Given the description of an element on the screen output the (x, y) to click on. 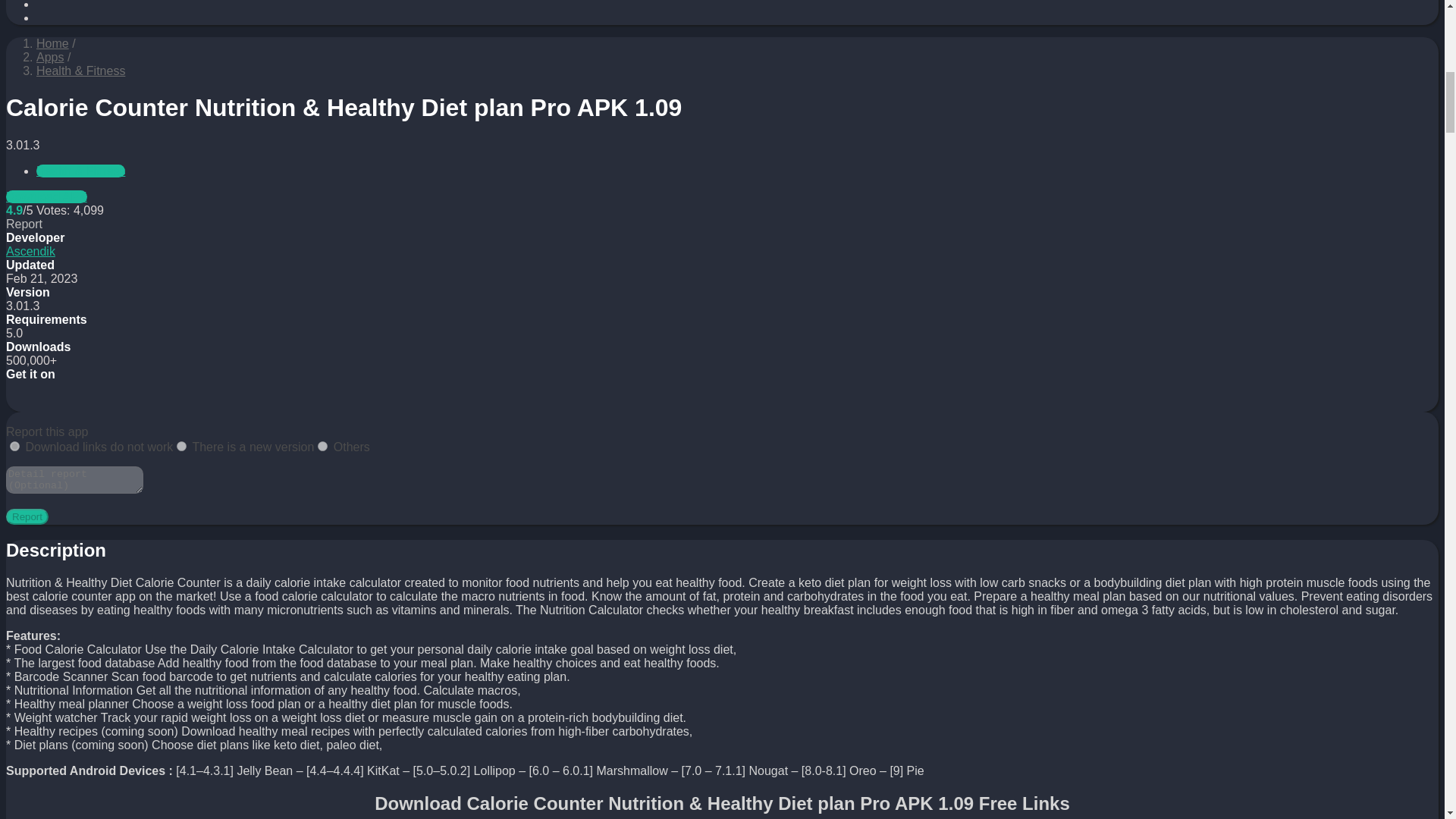
Download APK (46, 196)
Report (26, 516)
2 (181, 446)
1 (15, 446)
APK Hops (52, 42)
3 (322, 446)
